Given the description of an element on the screen output the (x, y) to click on. 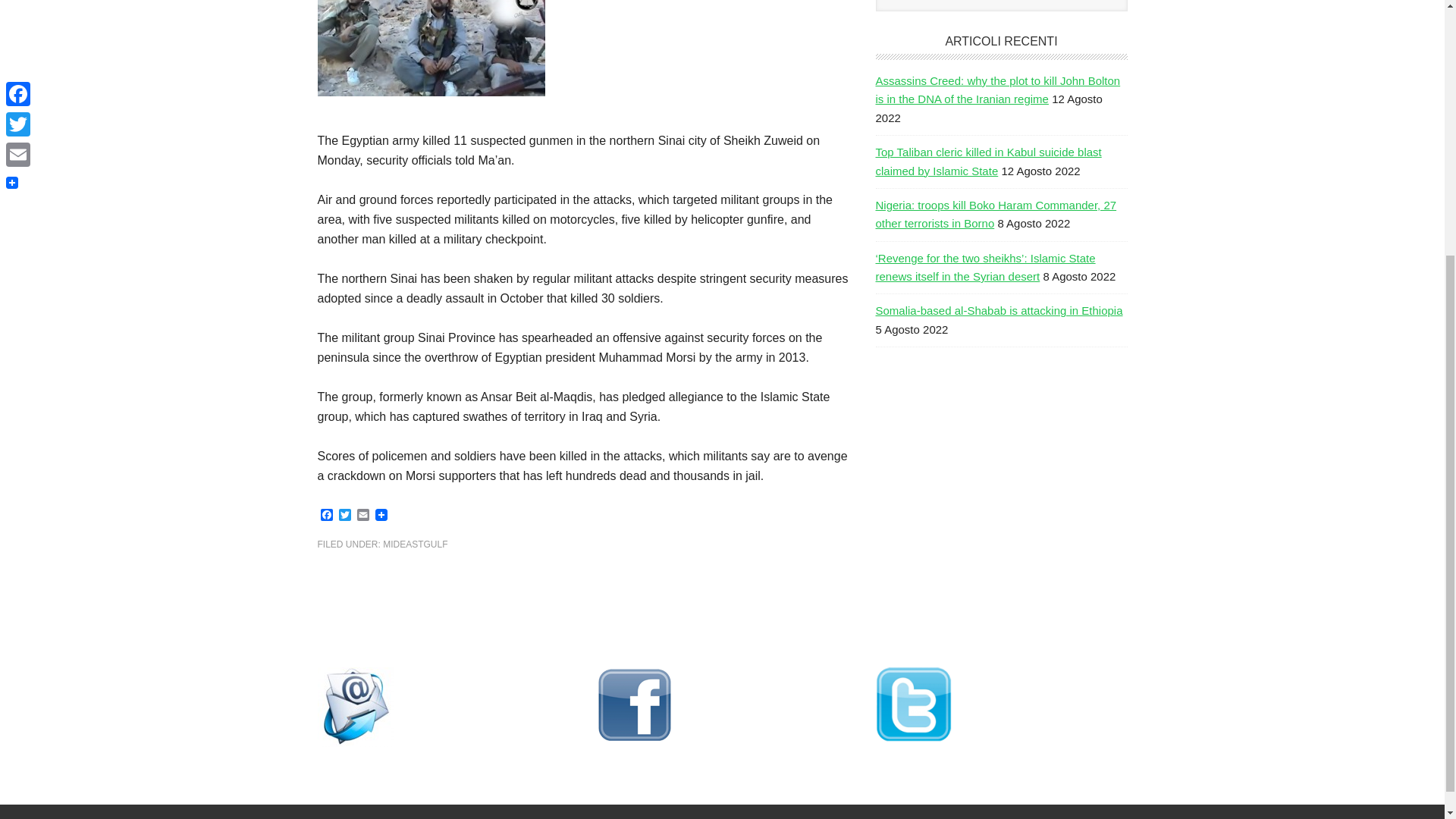
Facebook (325, 515)
Email (362, 515)
MIDEASTGULF (414, 543)
Twitter (343, 515)
Email (362, 515)
Somalia-based al-Shabab is attacking in Ethiopia (998, 309)
Facebook (325, 515)
Twitter (343, 515)
